Given the description of an element on the screen output the (x, y) to click on. 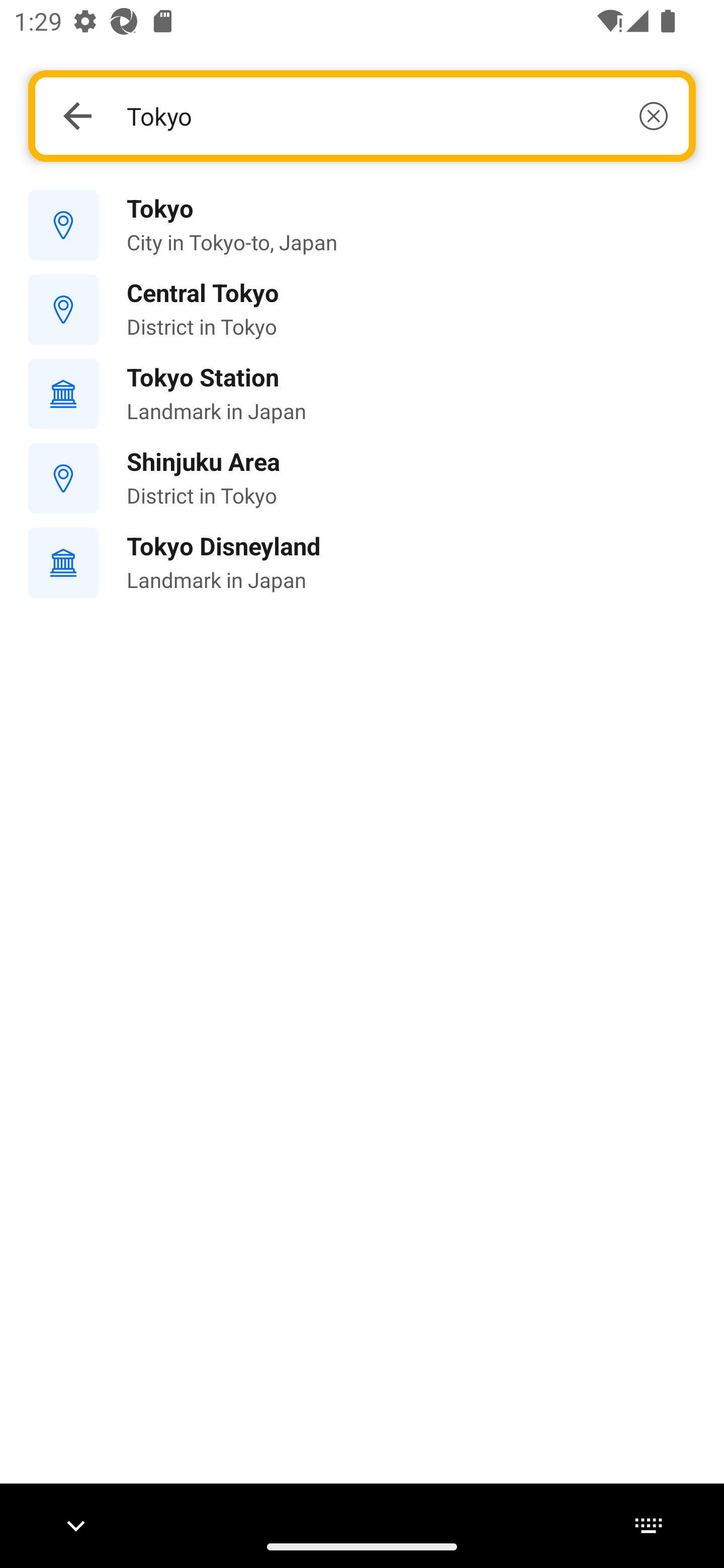
Tokyo (396, 115)
Tokyo City in Tokyo-to, Japan (362, 225)
Central Tokyo District in Tokyo (362, 309)
Tokyo Station Landmark in Japan (362, 393)
Shinjuku Area District in Tokyo (362, 477)
Tokyo Disneyland Landmark in Japan (362, 562)
